Given the description of an element on the screen output the (x, y) to click on. 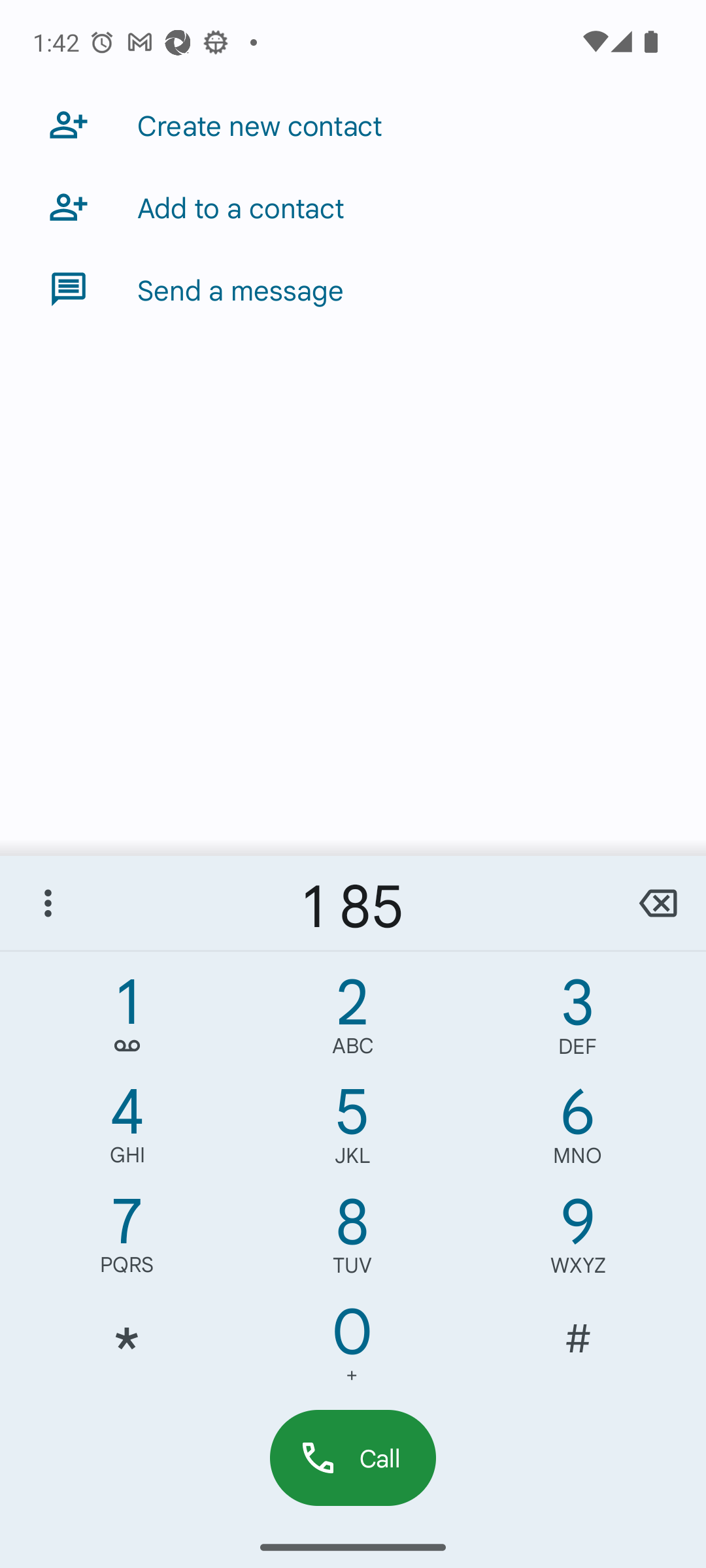
Create new contact (353, 124)
Add to a contact (353, 206)
Send a message (353, 288)
More options (48, 903)
1 85 (352, 903)
backspace (657, 903)
1, 1 (127, 1020)
2,ABC 2 ABC (352, 1020)
3,DEF 3 DEF (578, 1020)
4,GHI 4 GHI (127, 1130)
5,JKL 5 JKL (352, 1130)
6,MNO 6 MNO (578, 1130)
7,PQRS 7 PQRS (127, 1240)
8,TUV 8 TUV (352, 1240)
9,WXYZ 9 WXYZ (578, 1240)
* (127, 1349)
0 0 + (352, 1349)
# (578, 1349)
Call dial (352, 1457)
